Given the description of an element on the screen output the (x, y) to click on. 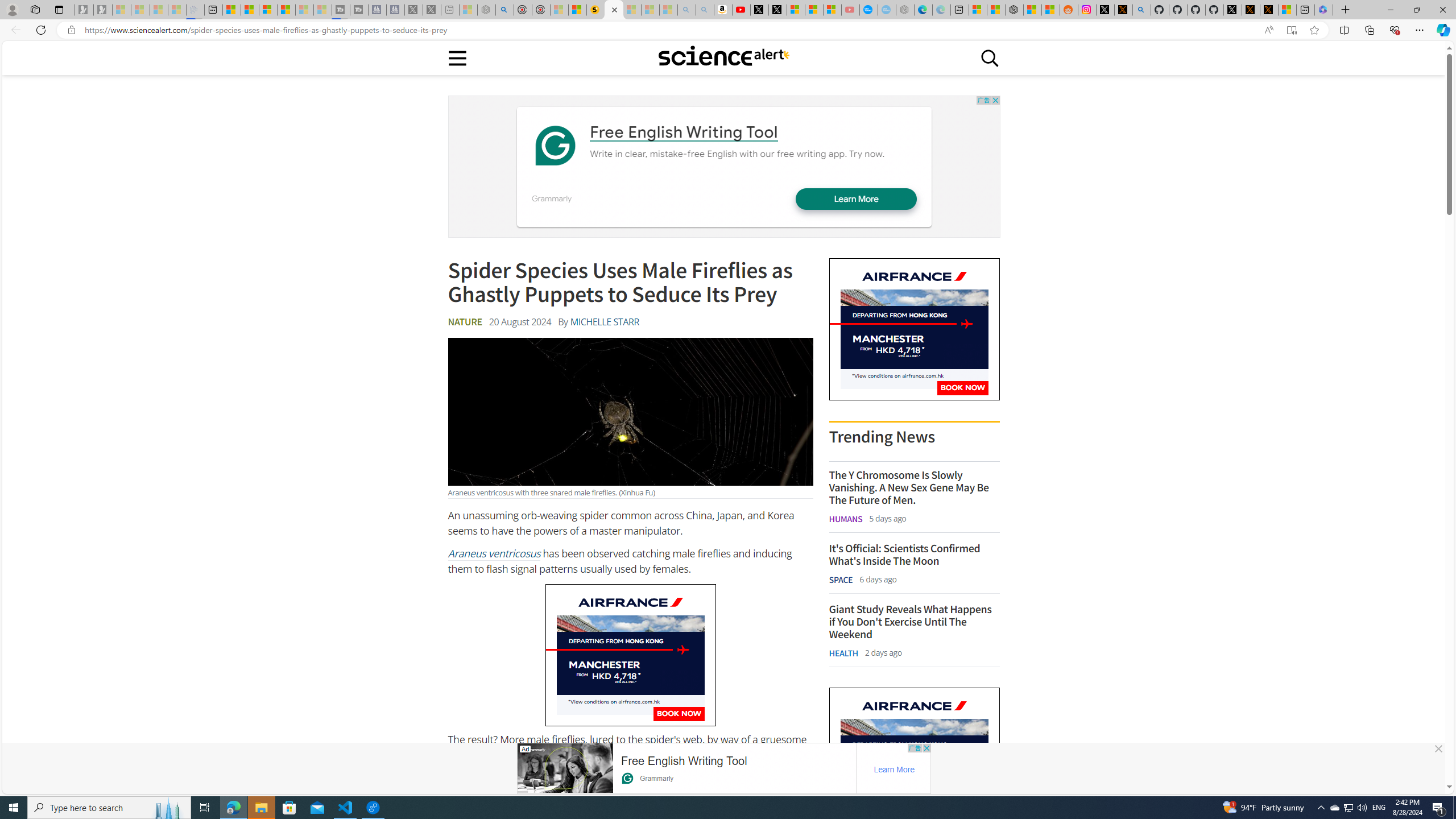
Amazon Echo Dot PNG - Search Images - Sleeping (705, 9)
Profile / X (1232, 9)
Abscondita terminalis (574, 792)
Login | Microsoft 365 (1324, 9)
